Given the description of an element on the screen output the (x, y) to click on. 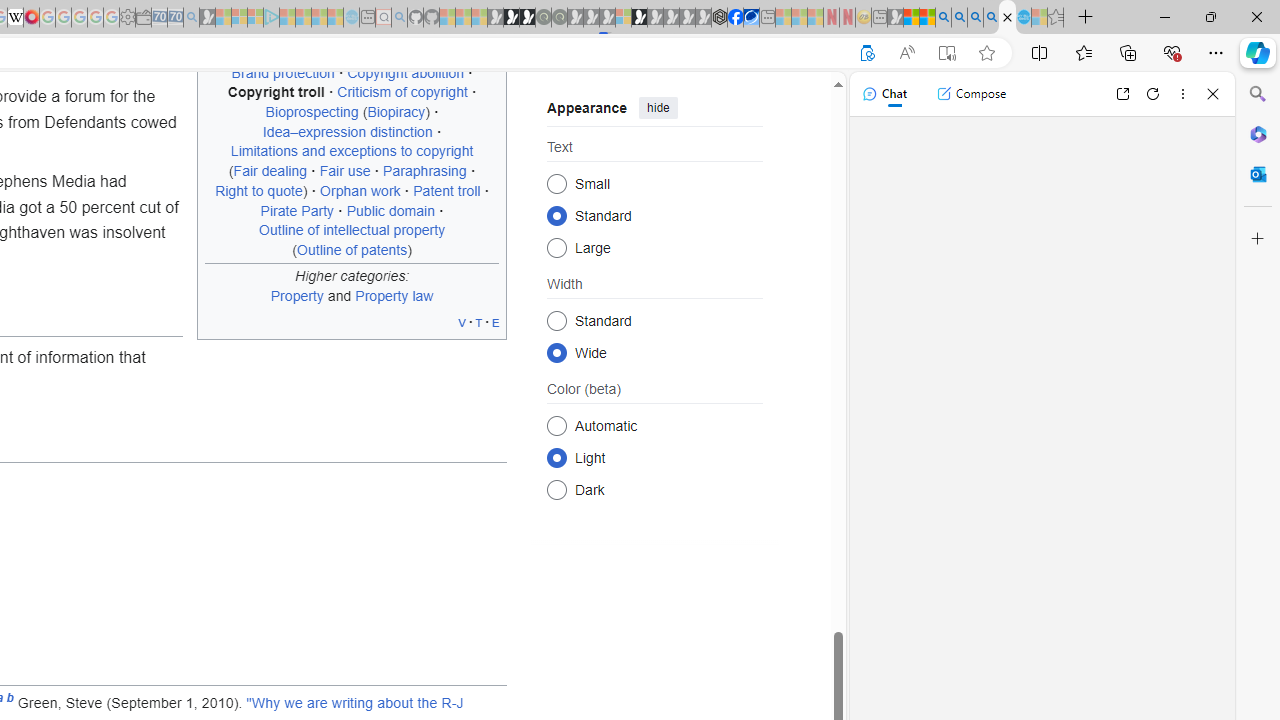
Large (556, 246)
(Biopiracy) (396, 111)
Wide (556, 352)
Biopiracy (396, 111)
Right to quote (259, 190)
Microsoft Start - Sleeping (319, 17)
Copyright abolition (405, 72)
